Given the description of an element on the screen output the (x, y) to click on. 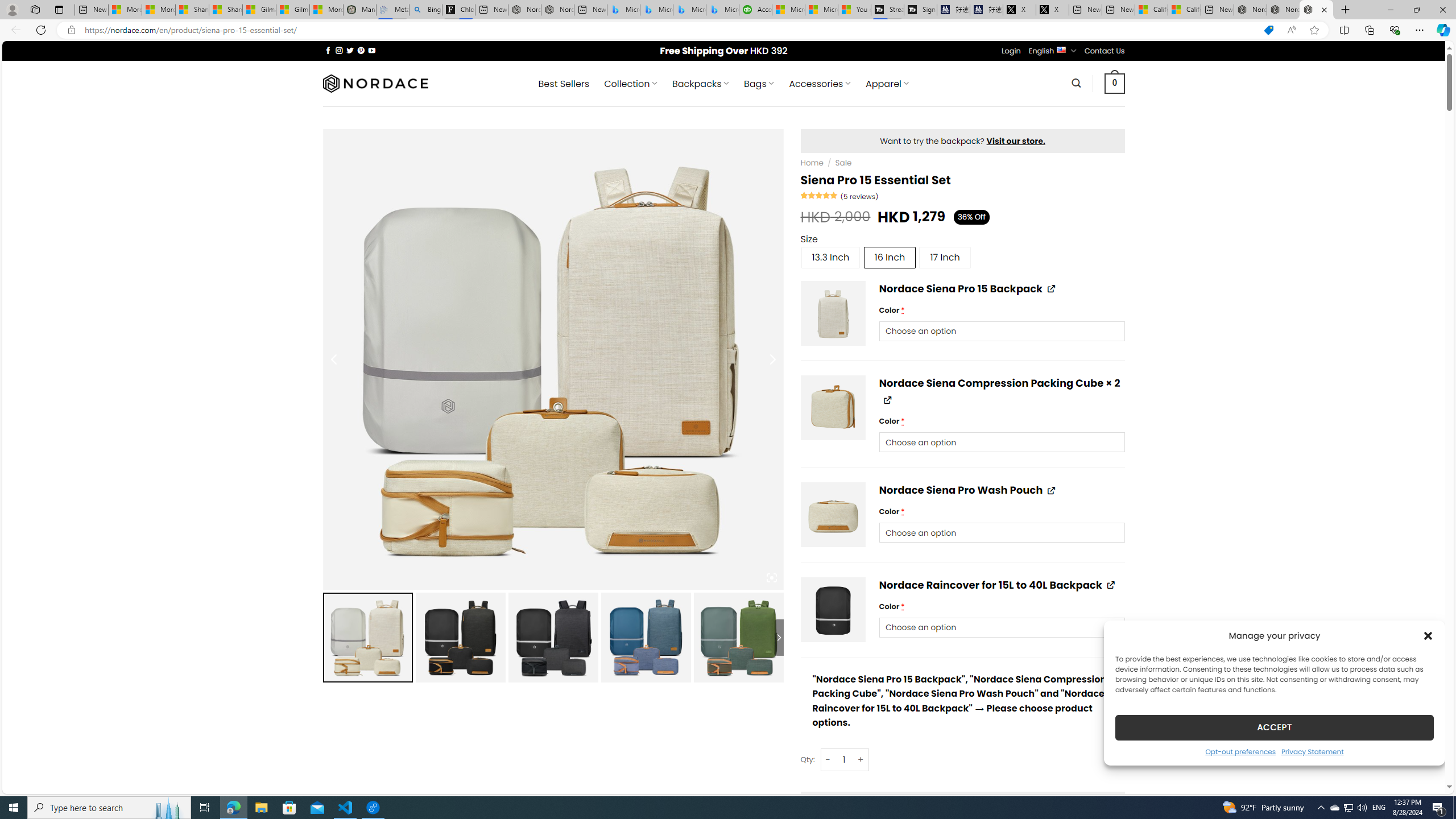
ML25400-1(1) (833, 609)
ND1118-5-1 (833, 312)
Streaming Coverage | T3 (887, 9)
Nordace Siena Pro 15 Backpack (1283, 9)
Follow on Twitter (349, 49)
17 Inch (944, 257)
